Given the description of an element on the screen output the (x, y) to click on. 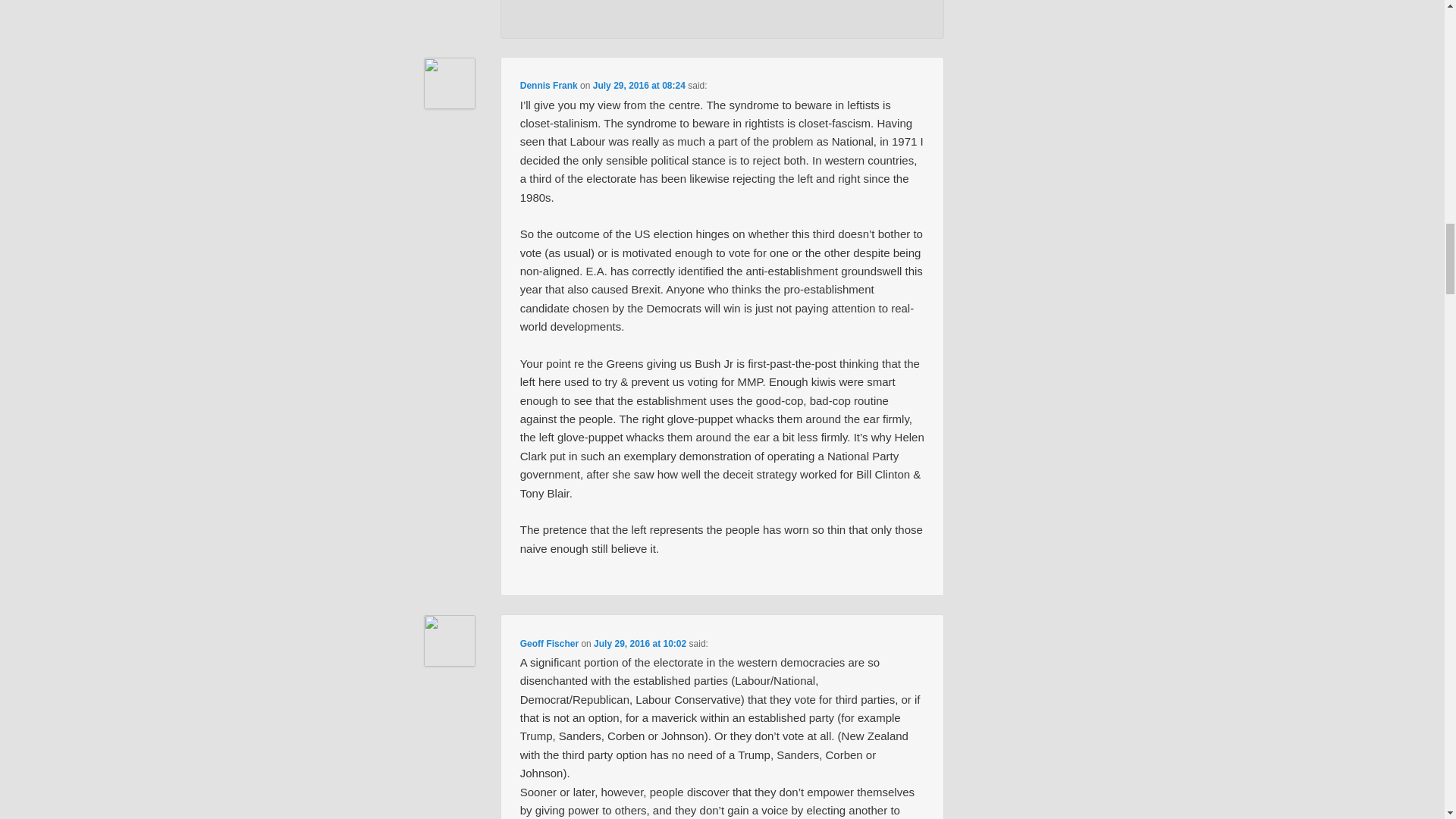
Geoff Fischer (548, 643)
July 29, 2016 at 10:02 (639, 643)
July 29, 2016 at 08:24 (638, 85)
Dennis Frank (548, 85)
